Given the description of an element on the screen output the (x, y) to click on. 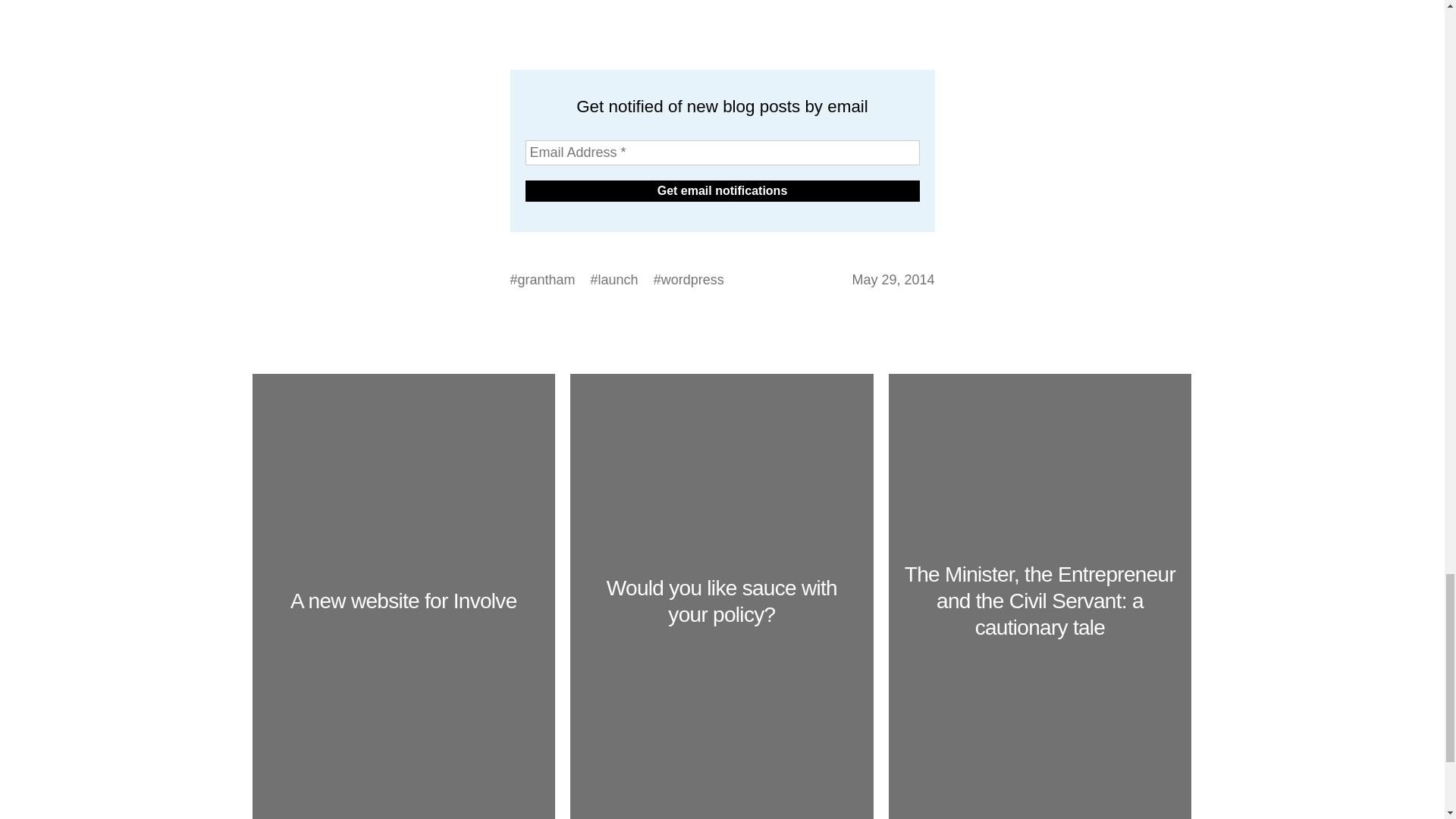
launch (618, 279)
Get email notifications (721, 190)
grantham (546, 279)
Email Address (721, 152)
Get email notifications (721, 190)
May 29, 2014 (892, 279)
wordpress (692, 279)
